Given the description of an element on the screen output the (x, y) to click on. 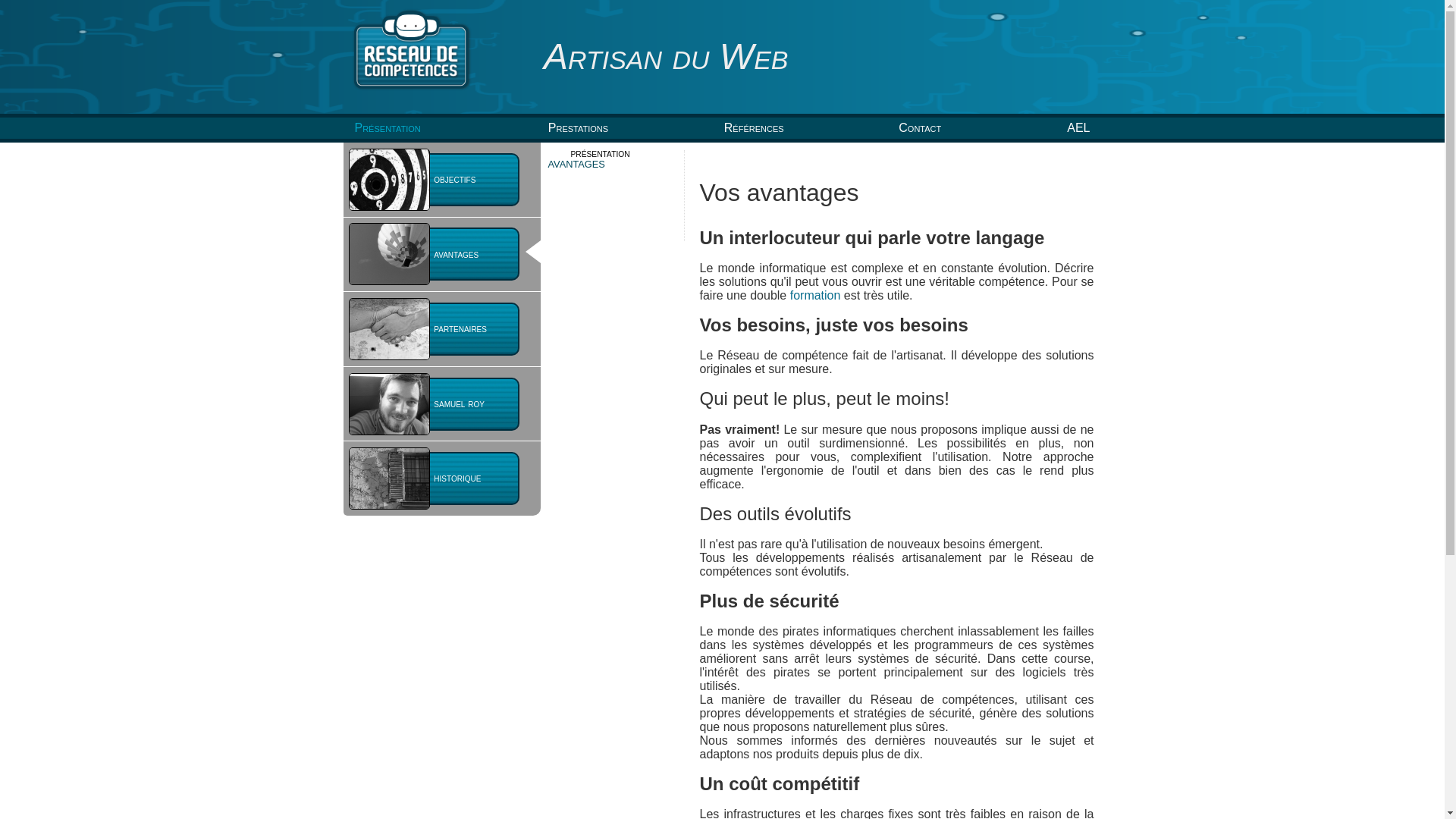
AEL Element type: text (1077, 127)
Prestations Element type: text (578, 127)
partenaires Element type: text (440, 328)
objectifs Element type: text (440, 179)
samuel roy Element type: text (440, 404)
historique Element type: text (440, 478)
Contact Element type: text (919, 127)
avantages Element type: text (440, 254)
formation Element type: text (815, 294)
